Given the description of an element on the screen output the (x, y) to click on. 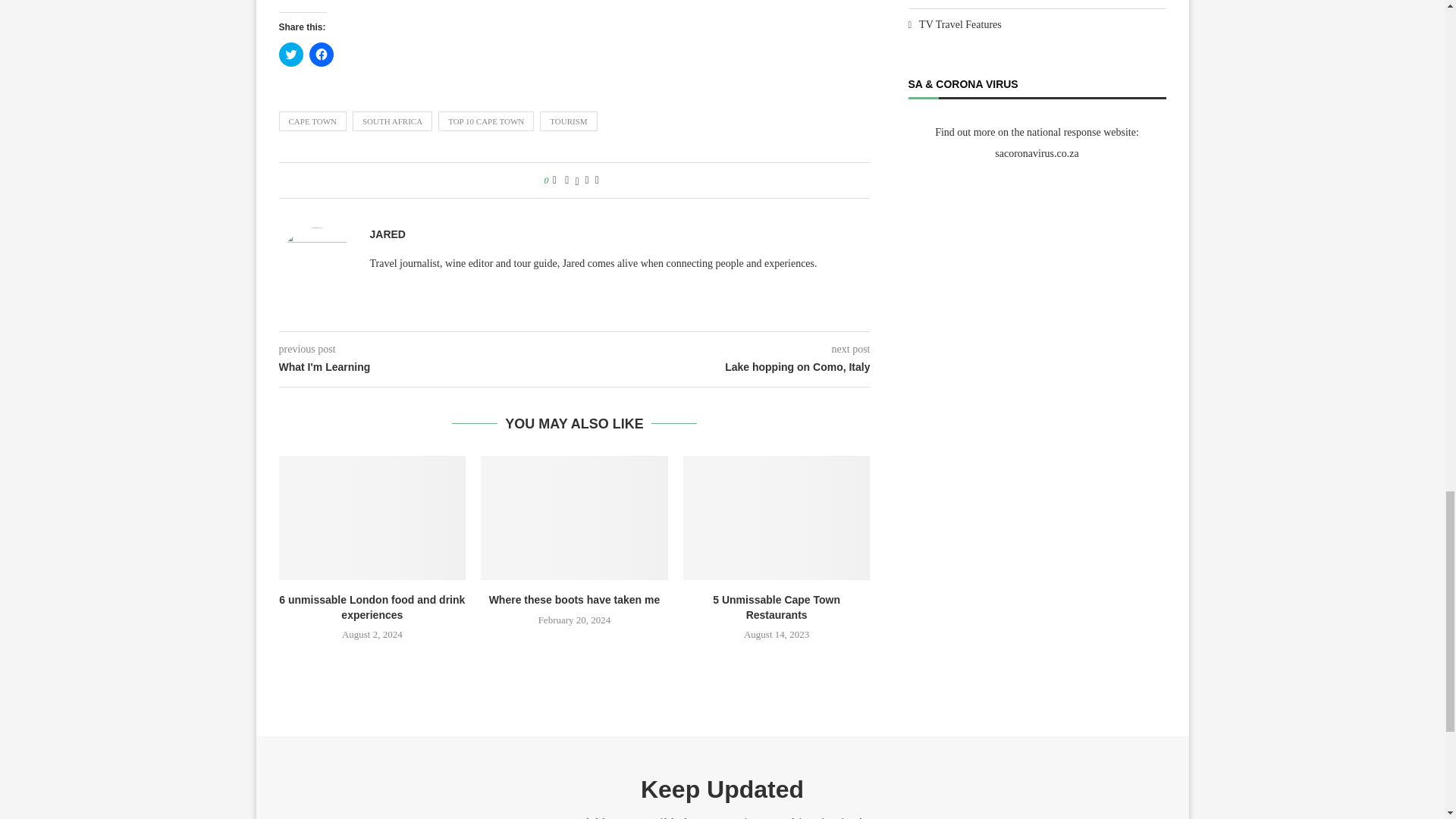
Click to share on Facebook (320, 54)
SOUTH AFRICA (392, 121)
Click to share on Twitter (290, 54)
Lake hopping on Como, Italy (722, 367)
Where these boots have taken me (574, 517)
JARED (387, 234)
TOURISM (568, 121)
Author Jared (387, 234)
CAPE TOWN (312, 121)
TOP 10 CAPE TOWN (486, 121)
